Given the description of an element on the screen output the (x, y) to click on. 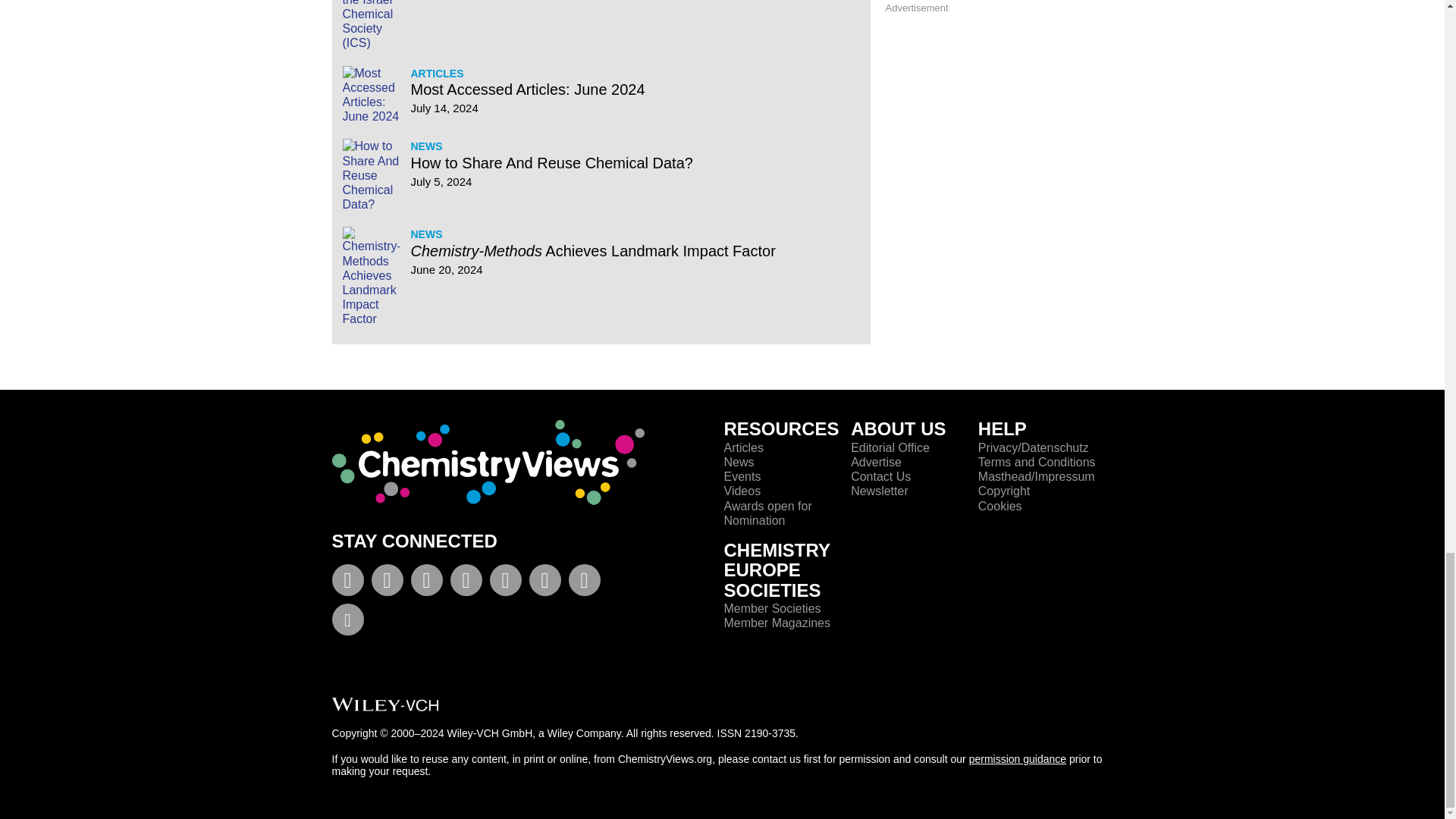
YouTube (426, 583)
Facebook (347, 583)
Instagram (505, 583)
RSS (544, 583)
Mastodon (584, 583)
Twitter (387, 583)
Bluesky (347, 621)
LinkedIn (465, 583)
